Given the description of an element on the screen output the (x, y) to click on. 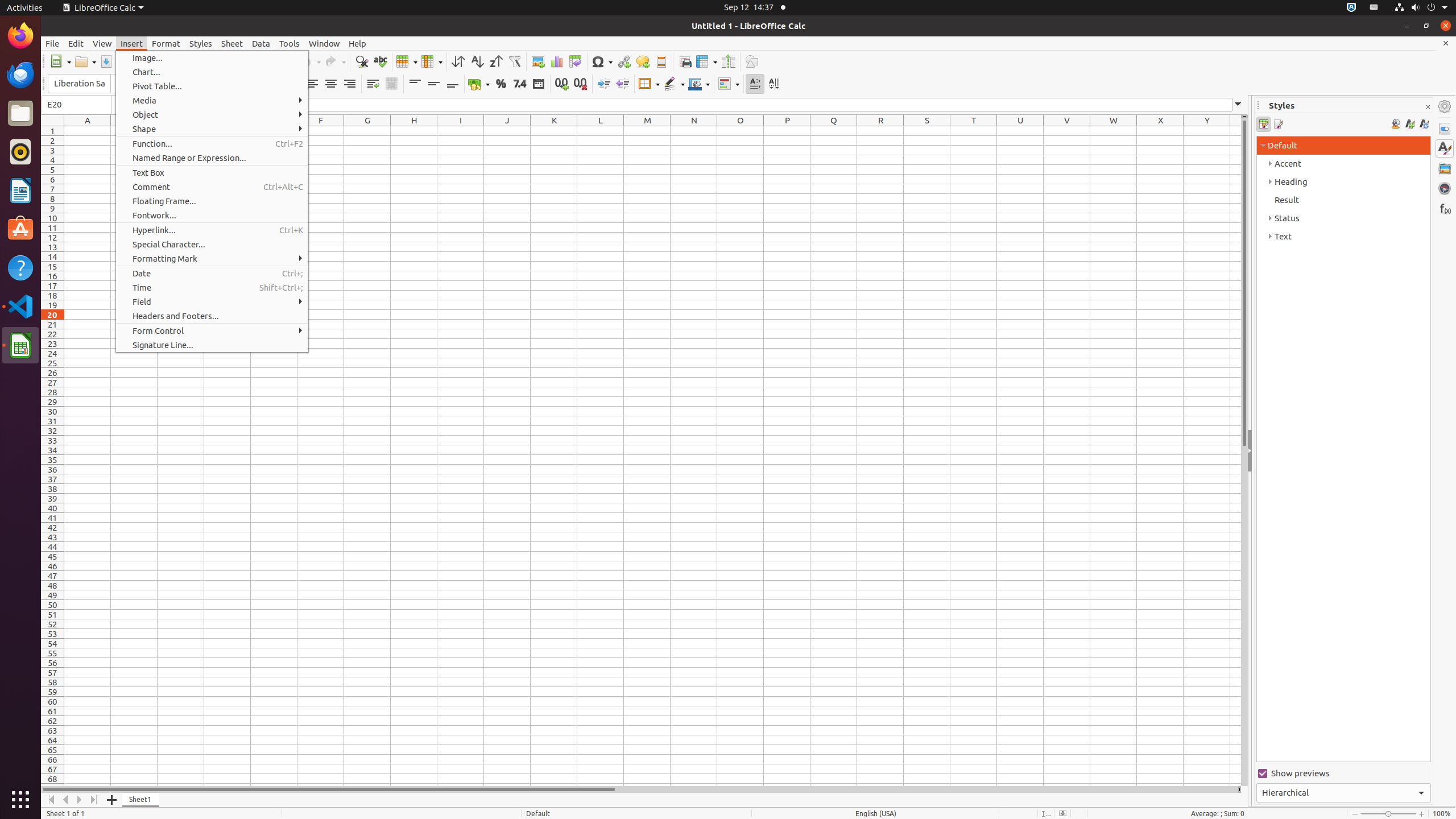
Shape Element type: menu (212, 128)
Y1 Element type: table-cell (1206, 130)
LibreOffice Calc Element type: push-button (20, 344)
Move Left Element type: push-button (65, 799)
H1 Element type: table-cell (413, 130)
